Given the description of an element on the screen output the (x, y) to click on. 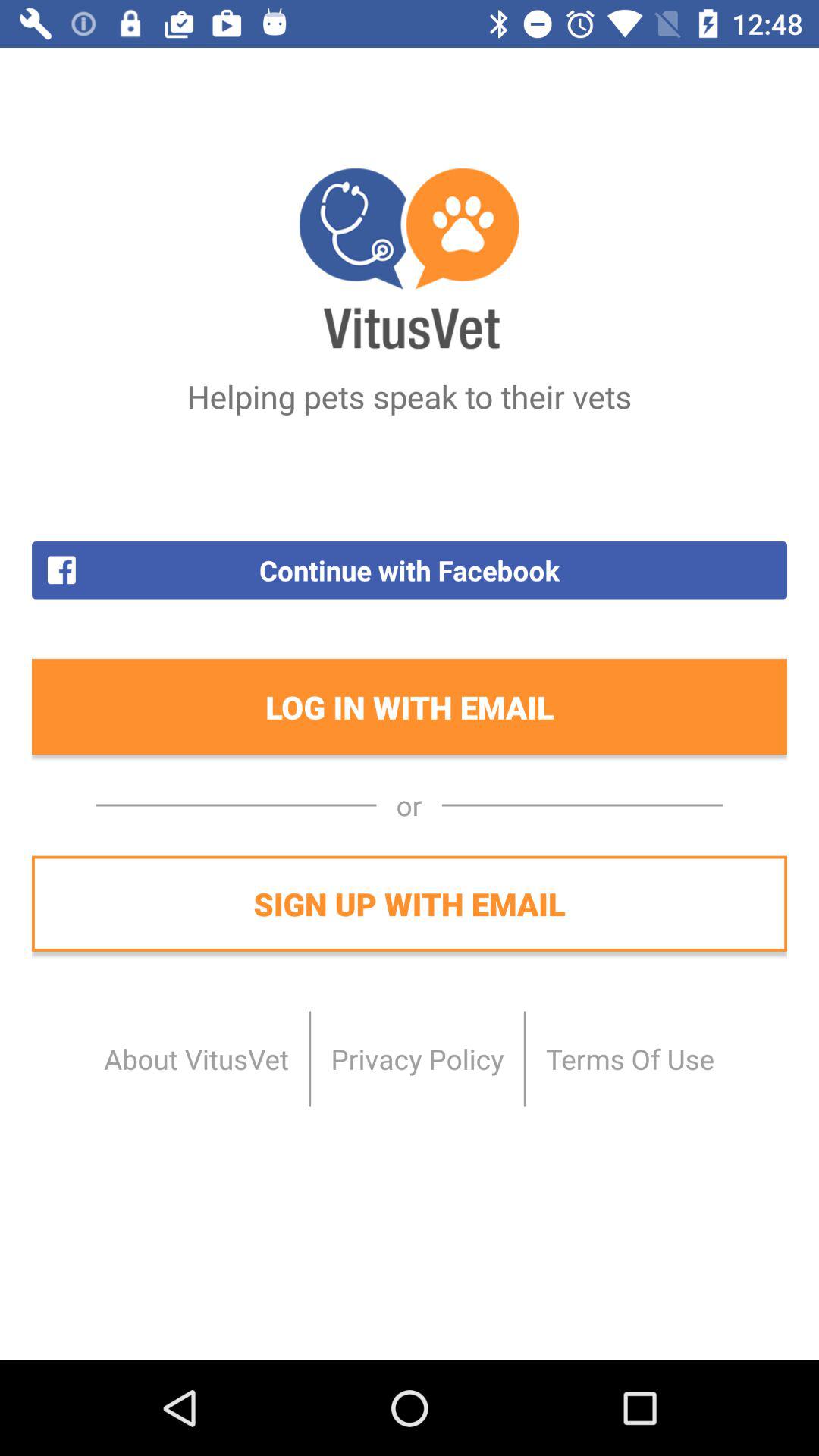
select item below the sign up with icon (630, 1058)
